Given the description of an element on the screen output the (x, y) to click on. 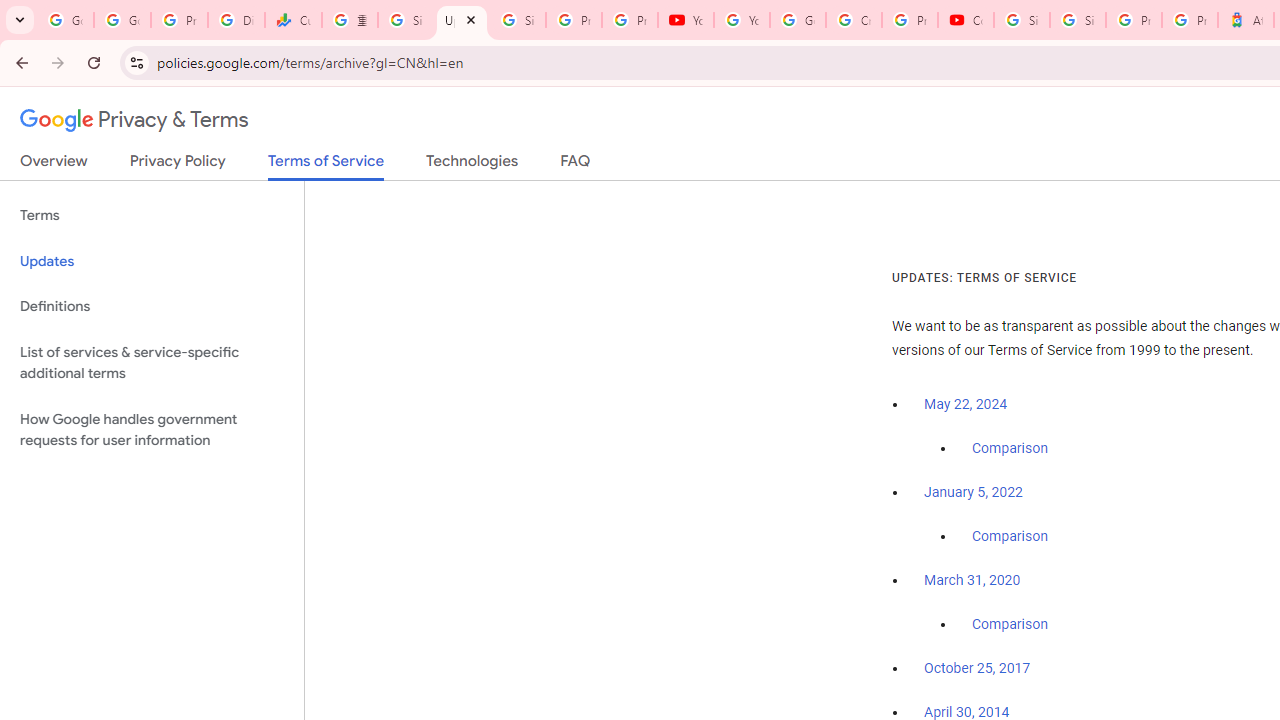
May 22, 2024 (966, 404)
October 25, 2017 (977, 669)
YouTube (742, 20)
Currencies - Google Finance (293, 20)
